Given the description of an element on the screen output the (x, y) to click on. 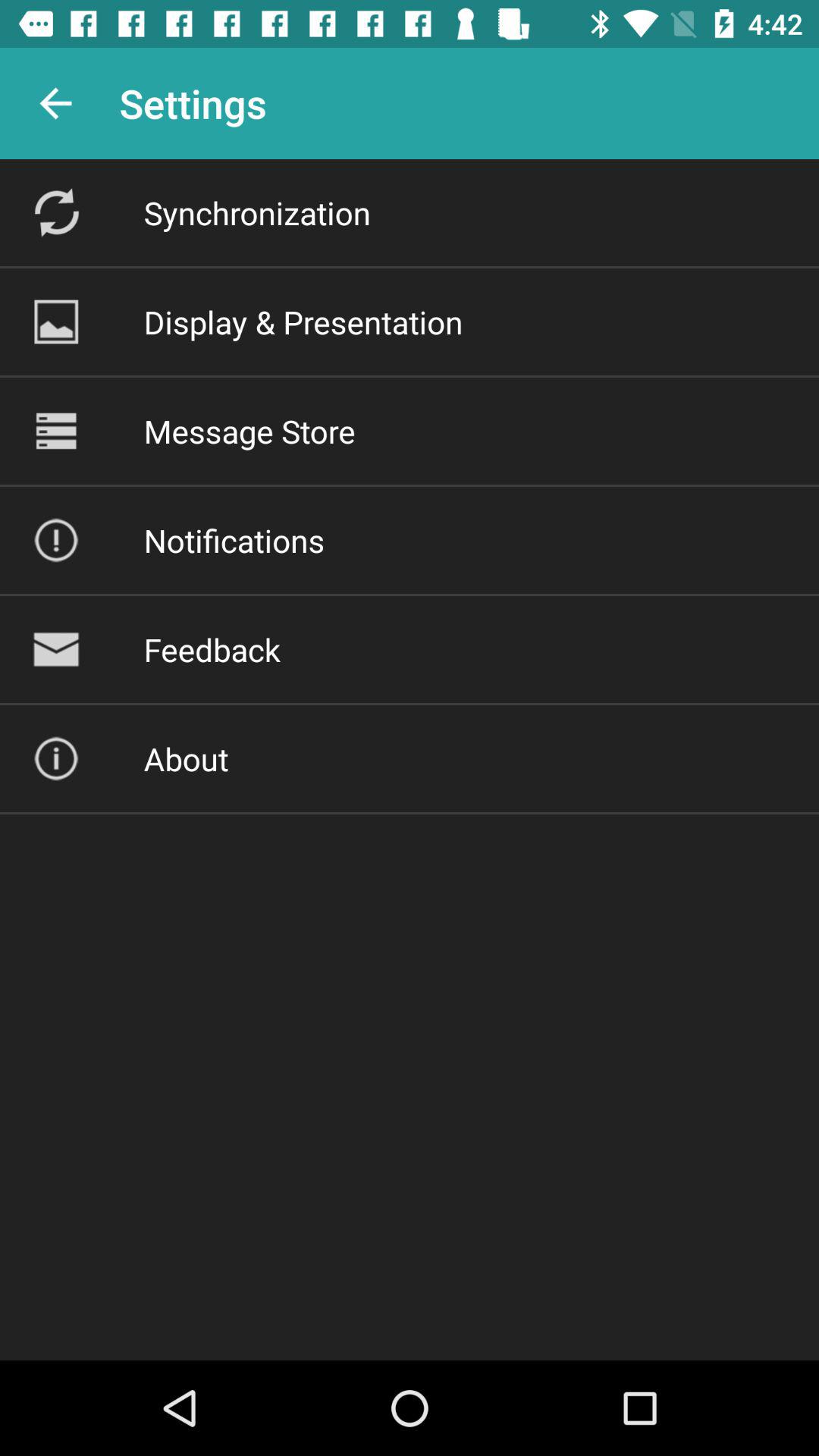
turn on the feedback (211, 649)
